Given the description of an element on the screen output the (x, y) to click on. 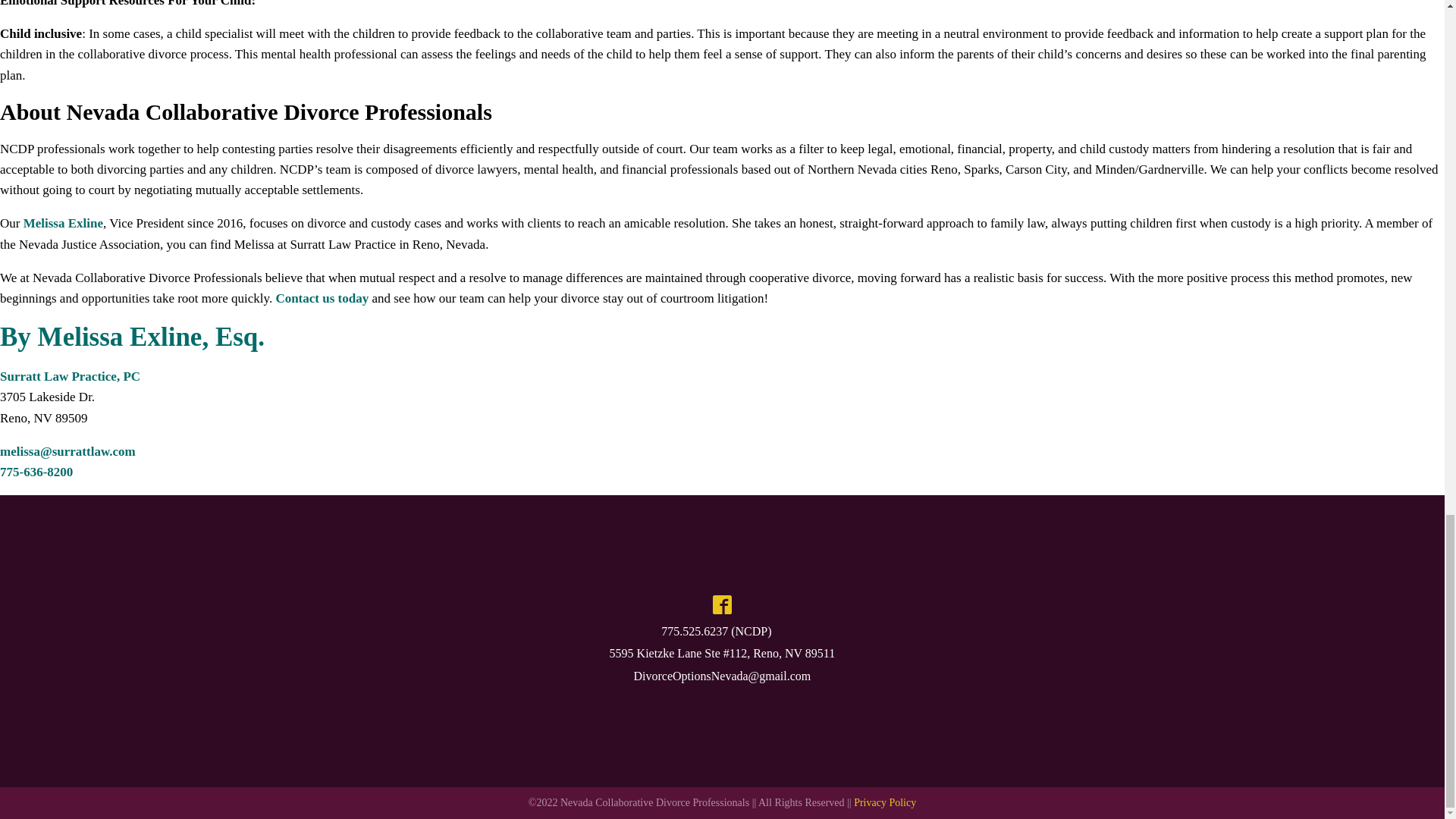
Privacy Policy (884, 802)
Contact us today (321, 298)
Melissa Exline (63, 223)
By Melissa Exline, Esq. (132, 337)
775-636-8200 (36, 472)
Surratt Law Practice, PC (69, 376)
